Given the description of an element on the screen output the (x, y) to click on. 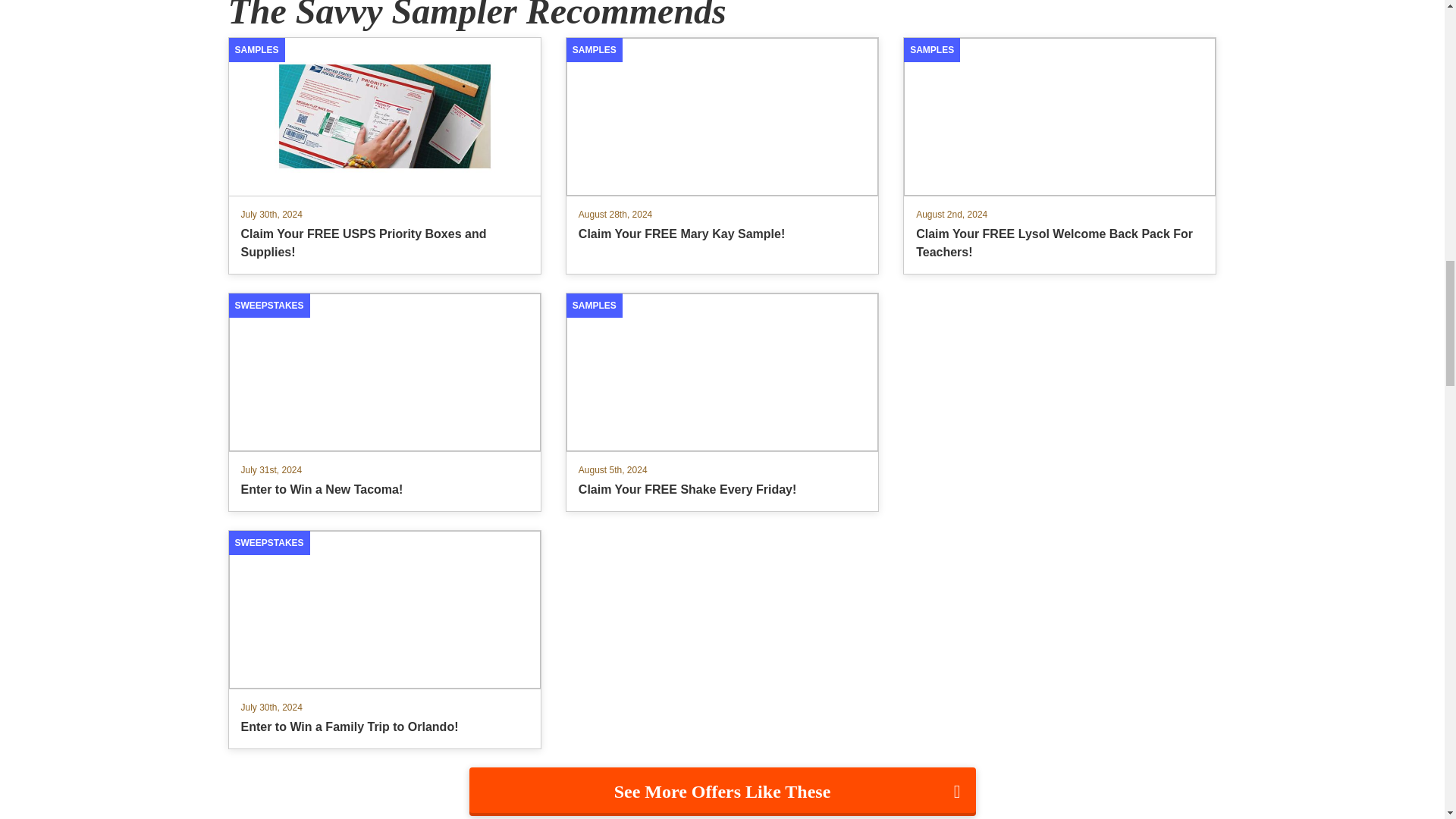
See More Offers Like These (383, 401)
